Given the description of an element on the screen output the (x, y) to click on. 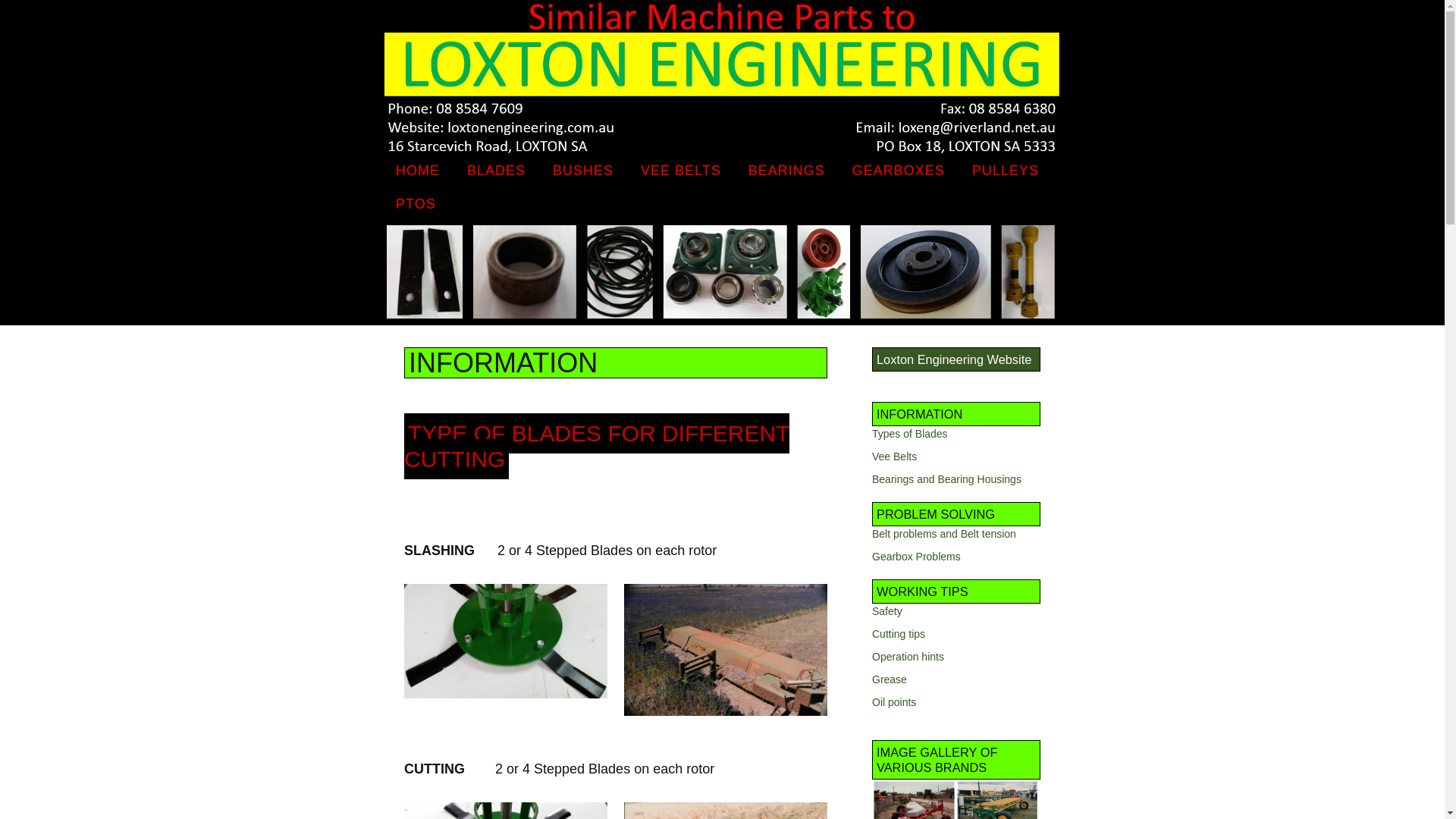
VEE BELTS Element type: text (680, 170)
Grease Element type: text (889, 679)
Gearbox Problems Element type: text (916, 556)
PTOS Element type: text (415, 204)
BEARINGS Element type: text (786, 170)
Types of Blades Element type: text (909, 433)
BUSHES Element type: text (583, 170)
Belt problems and Belt tension Element type: text (944, 533)
HOME Element type: text (417, 170)
GEARBOXES Element type: text (898, 170)
Loxton Engineering Website Element type: text (953, 359)
Operation hints Element type: text (908, 656)
PULLEYS Element type: text (1005, 170)
Safety Element type: text (887, 611)
Oil points Element type: text (894, 702)
Vee Belts Element type: text (894, 456)
Cutting tips Element type: text (898, 633)
Bearings and Bearing Housings Element type: text (946, 479)
BLADES Element type: text (496, 170)
